Given the description of an element on the screen output the (x, y) to click on. 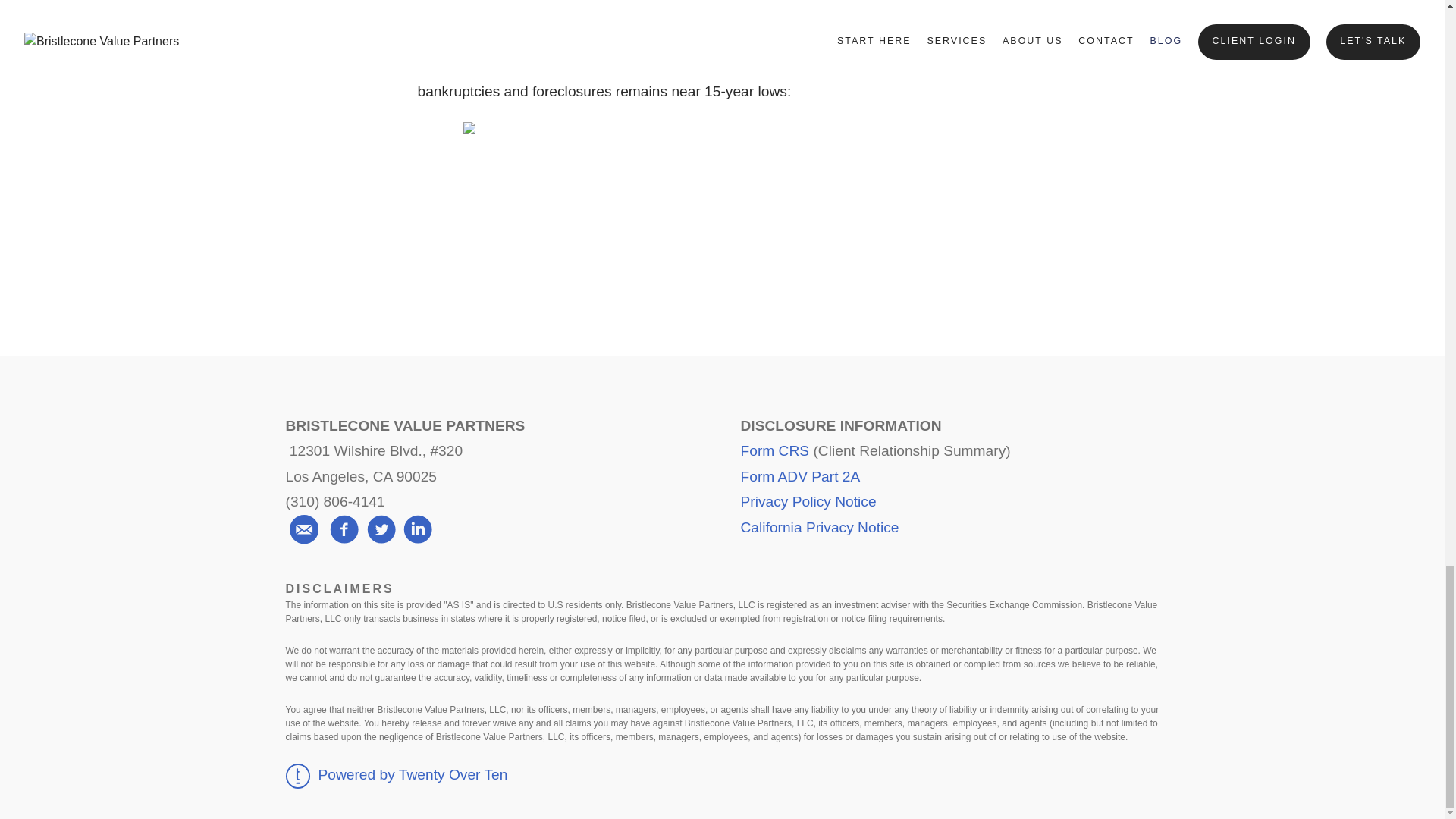
Form ADV Part 2A (799, 476)
TWITTER (722, 253)
California Privacy Notice (818, 527)
LINKEDIN (836, 253)
FACEBOOK (608, 253)
Powered by Twenty Over Ten (395, 774)
Privacy Policy Notice (807, 501)
Form CRS (774, 450)
